Given the description of an element on the screen output the (x, y) to click on. 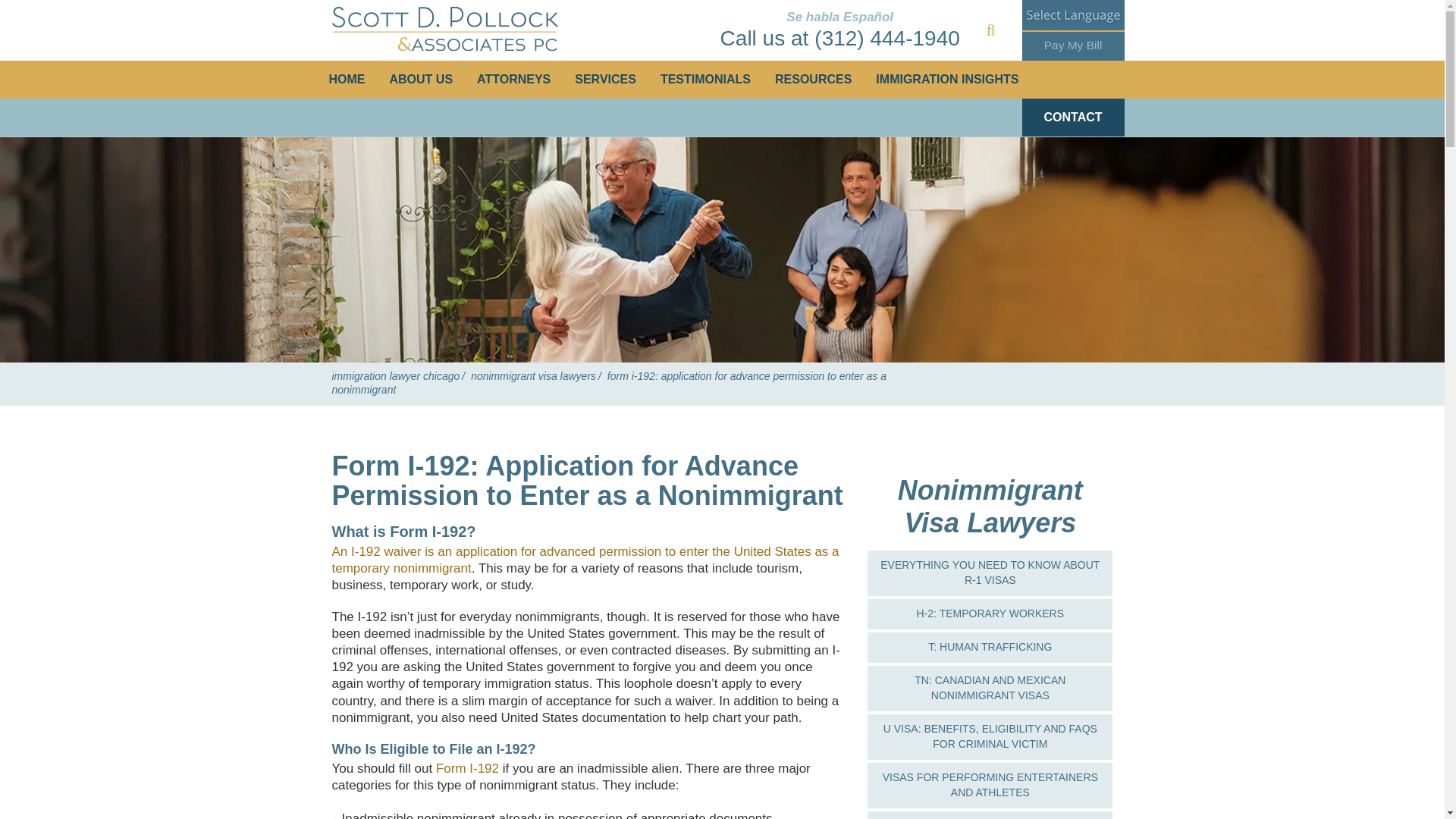
ABOUT US (421, 79)
Pay My Bill (1073, 45)
HOME (347, 79)
